Given the description of an element on the screen output the (x, y) to click on. 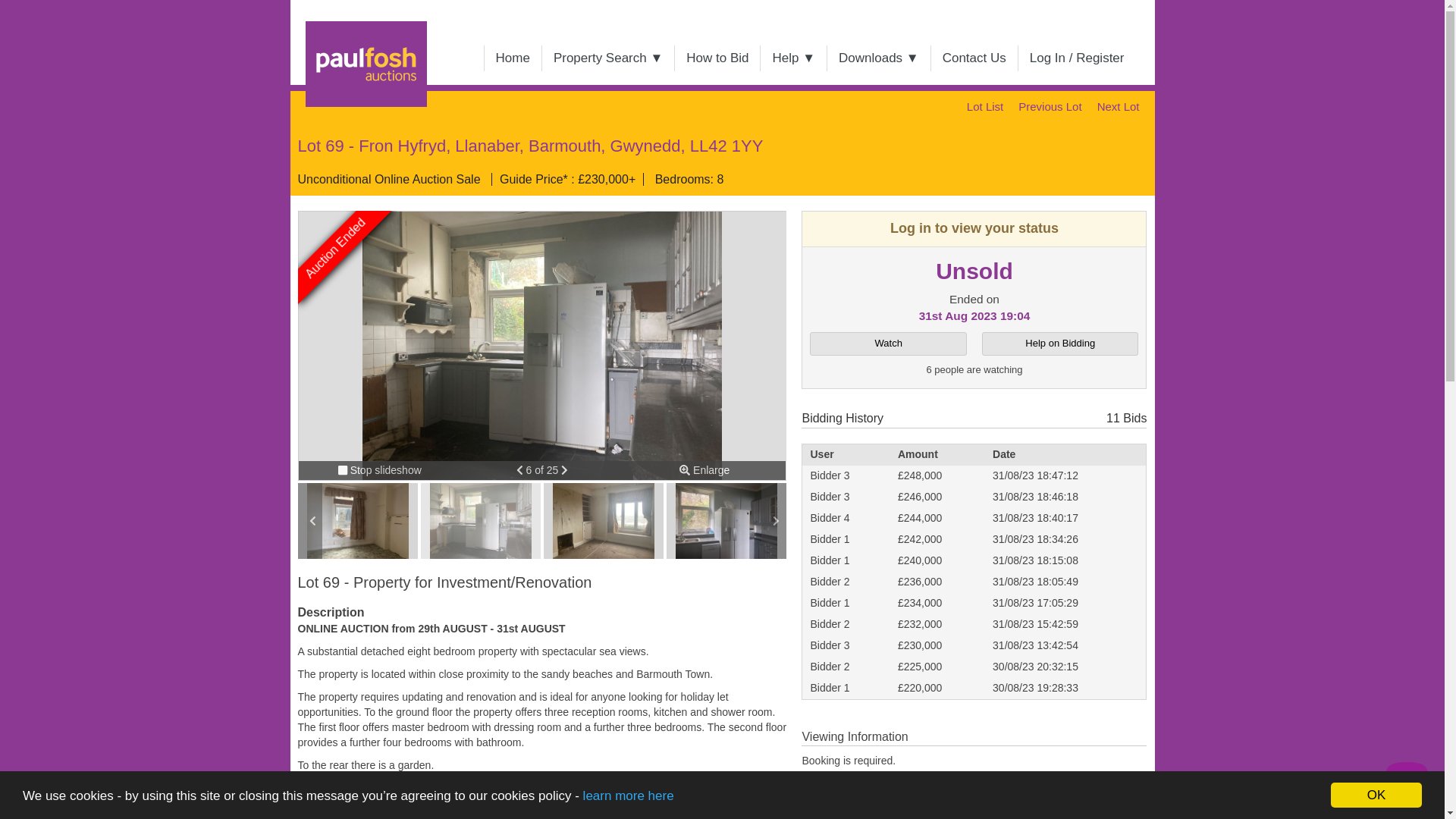
Contact Us (973, 58)
Return to the Paul Fosh Auctions website (352, 18)
Log in to watch (887, 343)
Click here for help on bidding. (1059, 343)
Return to the Paul Fosh Auctions website (512, 58)
Next Lot (1118, 106)
Show next lot. (1118, 106)
Home (512, 58)
Previous Lot (1049, 106)
Lot List (984, 106)
How to Bid (717, 58)
Show previous lot. (1049, 106)
